Given the description of an element on the screen output the (x, y) to click on. 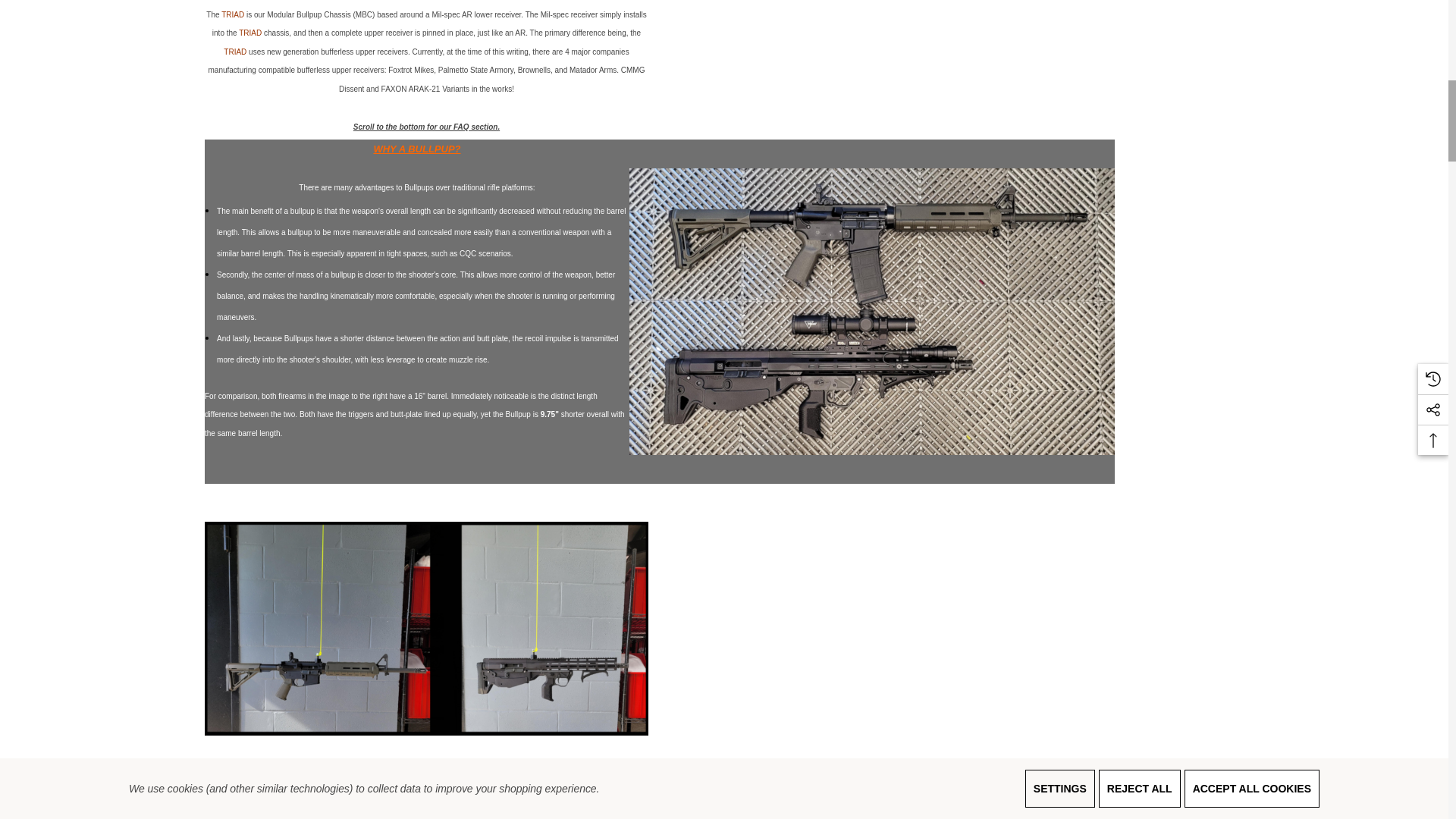
image57-1200.jpg (426, 628)
